Given the description of an element on the screen output the (x, y) to click on. 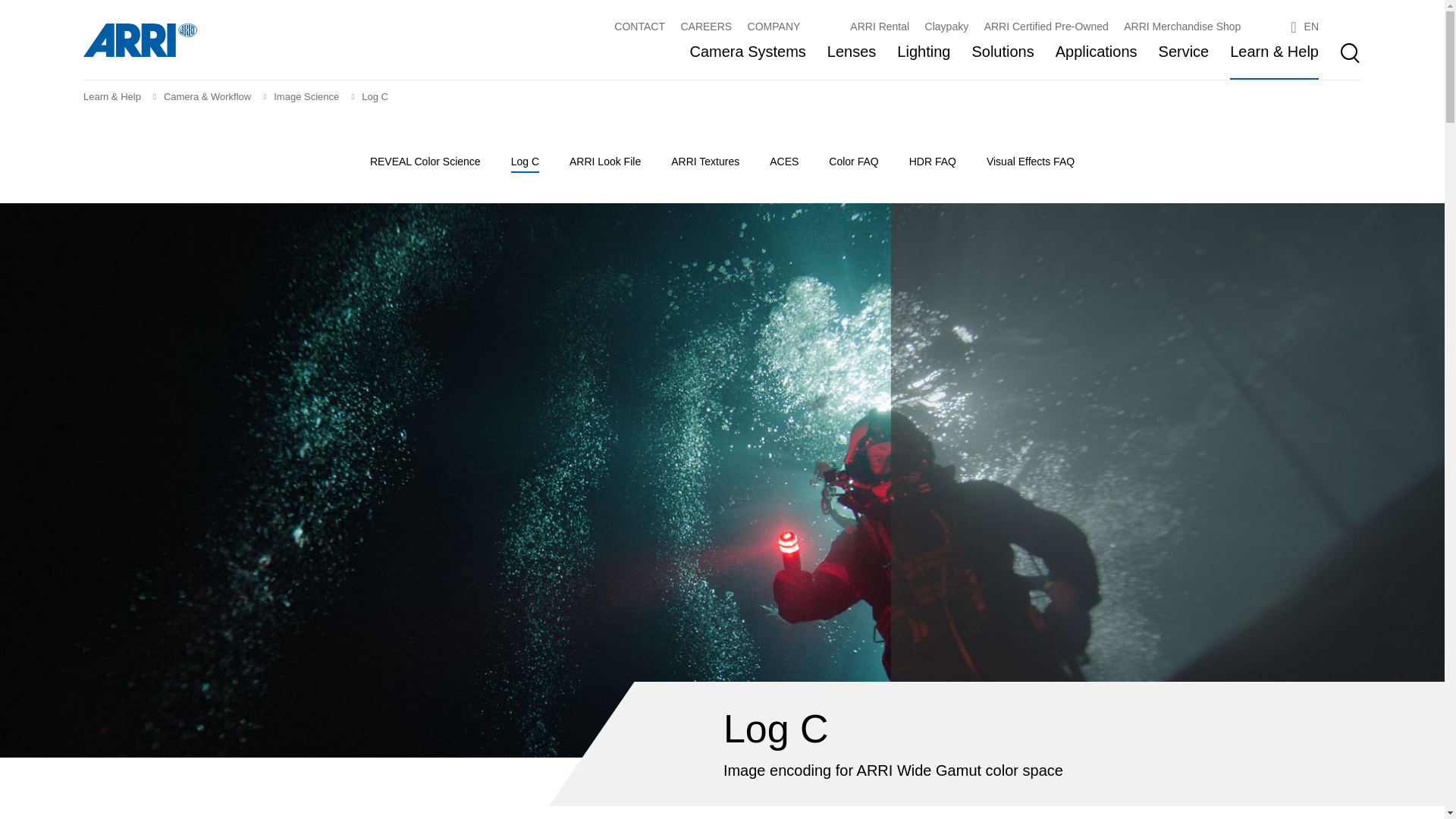
ARRI Look File (604, 159)
EN (1304, 26)
CAREERS (706, 26)
Camera Systems (746, 53)
ARRI Rental (879, 26)
Visual Effects FAQ (1030, 159)
REVEAL Color Science (424, 159)
ARRI Merchandise Shop (1182, 26)
COMPANY (773, 26)
Return to the homepage (139, 39)
ARRI Certified Pre-Owned (1046, 26)
Claypaky (946, 26)
CONTACT (639, 26)
ARRI Textures (705, 159)
